Given the description of an element on the screen output the (x, y) to click on. 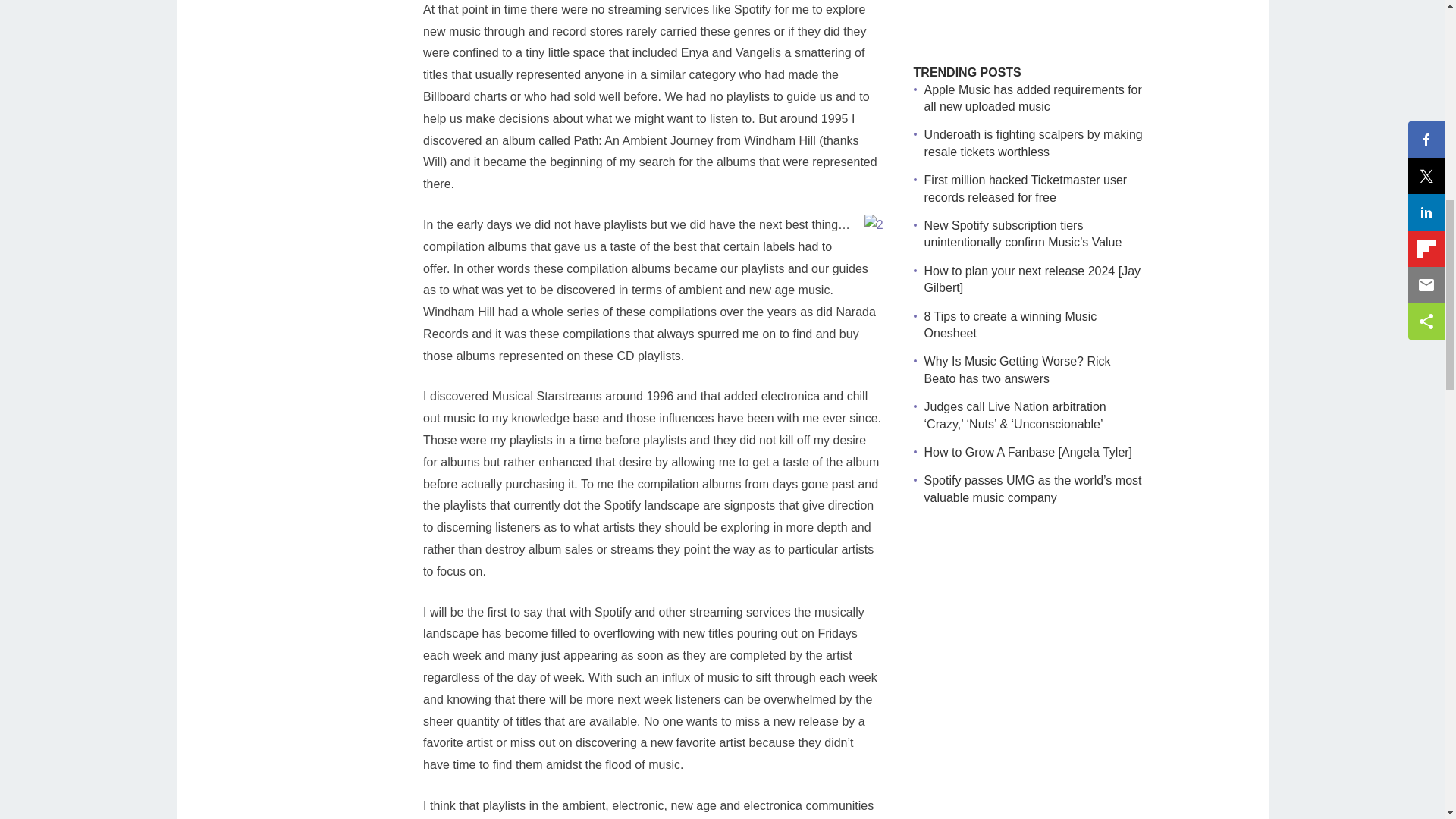
2 (873, 225)
